Given the description of an element on the screen output the (x, y) to click on. 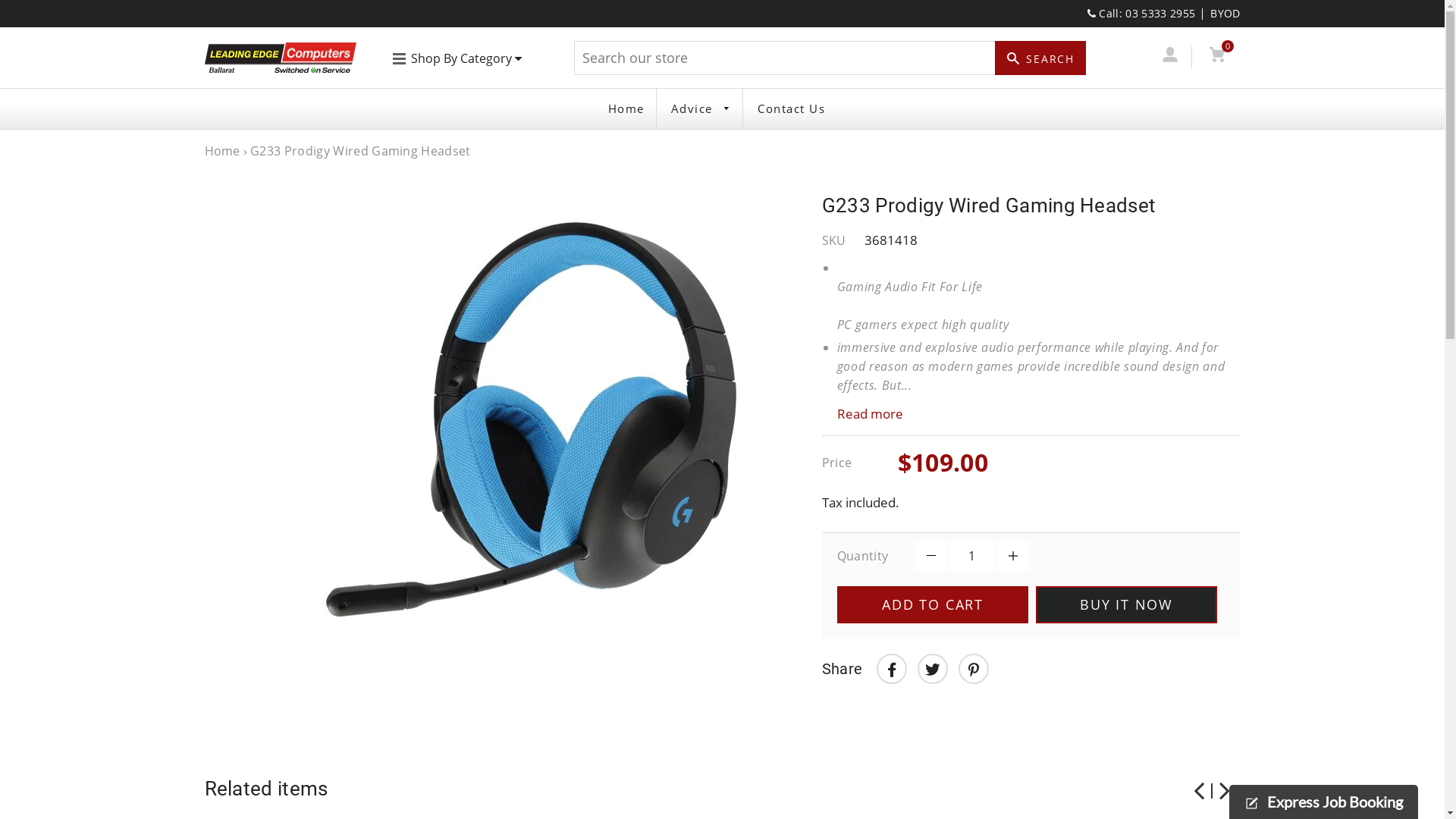
BUY IT NOW Element type: text (1126, 605)
Advice Element type: text (701, 108)
BYOD Element type: text (1224, 13)
Log In Element type: text (1170, 56)
Pin it
Pin on Pinterest Element type: text (973, 668)
SEARCH Element type: text (1039, 57)
ADD TO CART Element type: text (932, 605)
Previous Element type: text (1198, 795)
Share
Share on Facebook Element type: text (891, 668)
Tweet
Tweet on Twitter Element type: text (932, 668)
Cart
0 Element type: text (1217, 56)
Call: 03 5333 2955 Element type: text (1141, 13)
Next Element type: text (1224, 795)
Contact Us Element type: text (791, 108)
Home Element type: text (222, 150)
Read more Element type: text (1031, 414)
Home Element type: text (625, 108)
